Given the description of an element on the screen output the (x, y) to click on. 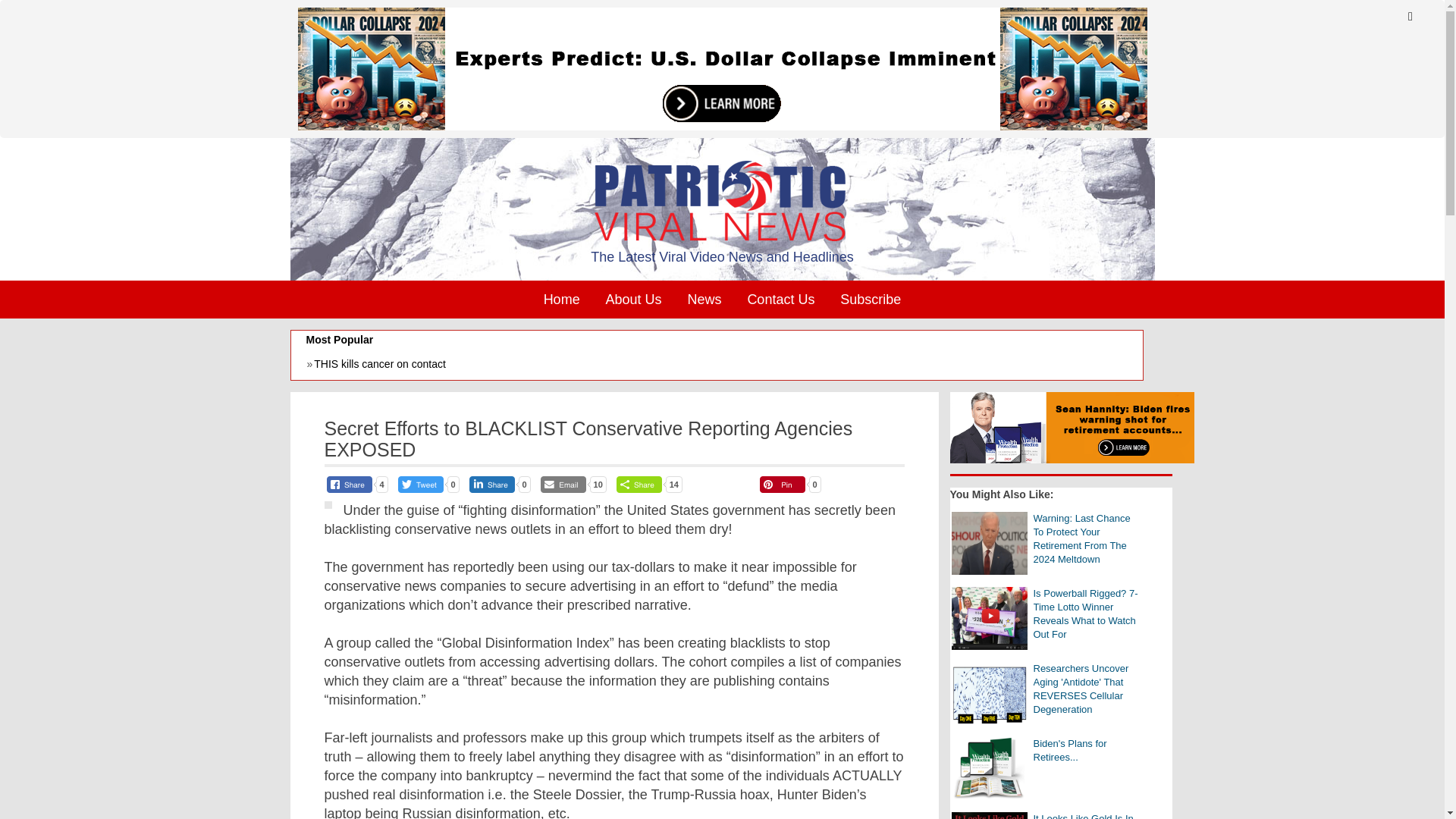
THIS kills cancer on contact (715, 366)
About Us (633, 299)
Contact Us (780, 299)
Home (561, 299)
It Looks Like Gold Is In Trouble (988, 815)
Biden's Plans for Retirees... (988, 768)
News (703, 299)
Patriotic Viral News homepage (722, 201)
Subscribe (870, 299)
